Given the description of an element on the screen output the (x, y) to click on. 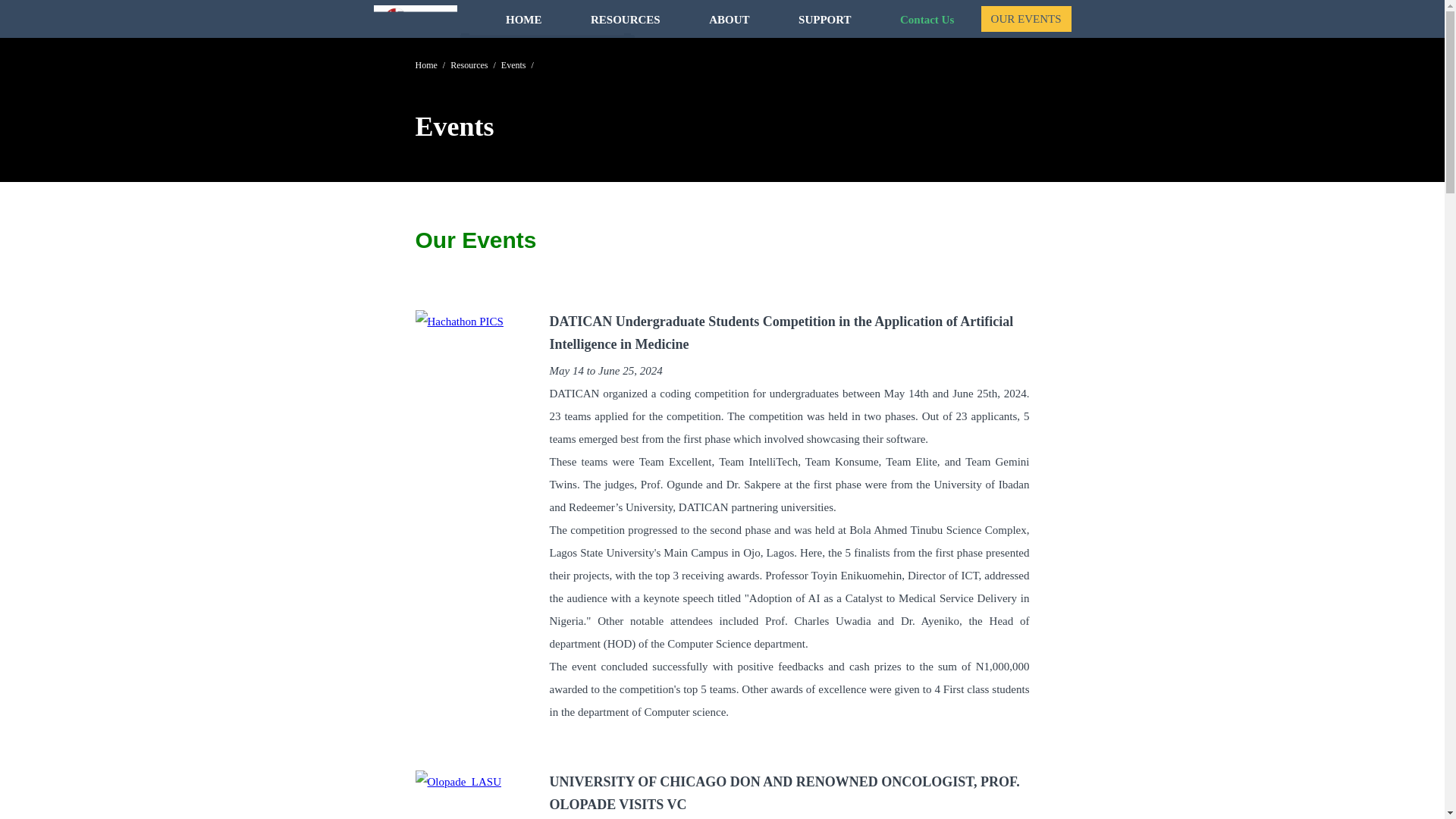
Contact Us (939, 18)
OUR EVENTS (1026, 18)
Home (426, 64)
Events (512, 64)
Home (414, 20)
